Given the description of an element on the screen output the (x, y) to click on. 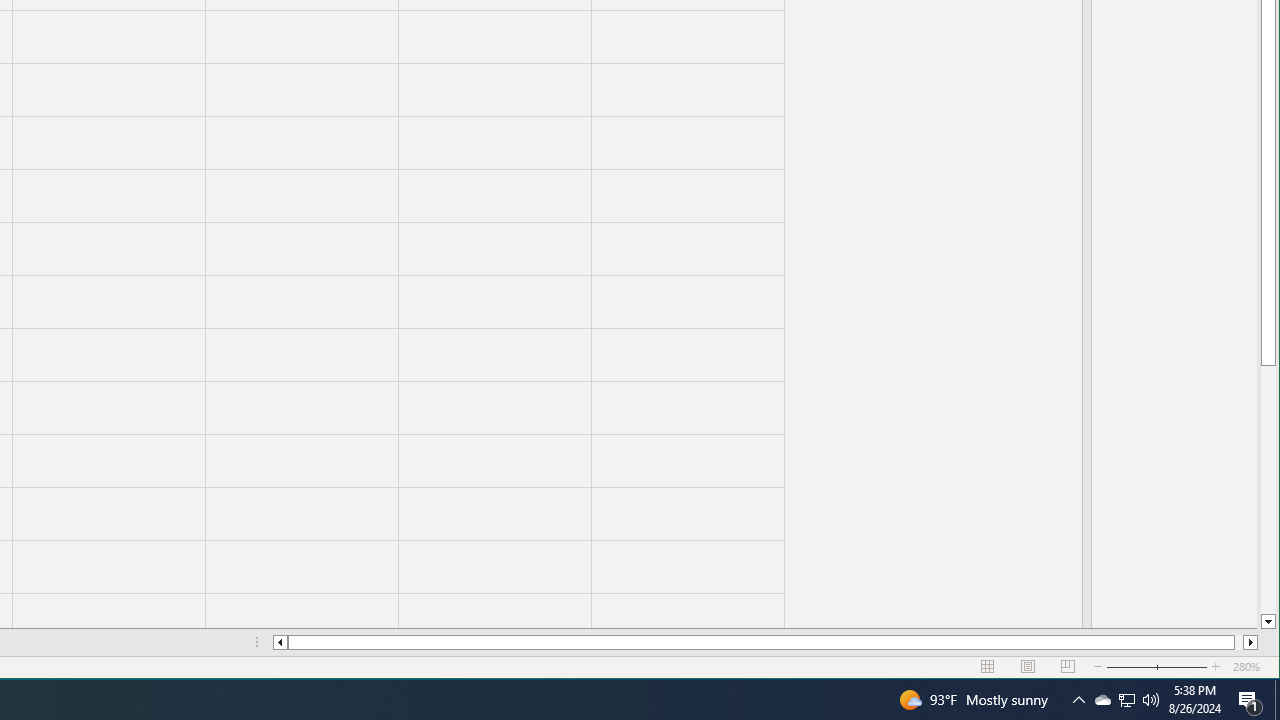
Show desktop (1126, 699)
